Given the description of an element on the screen output the (x, y) to click on. 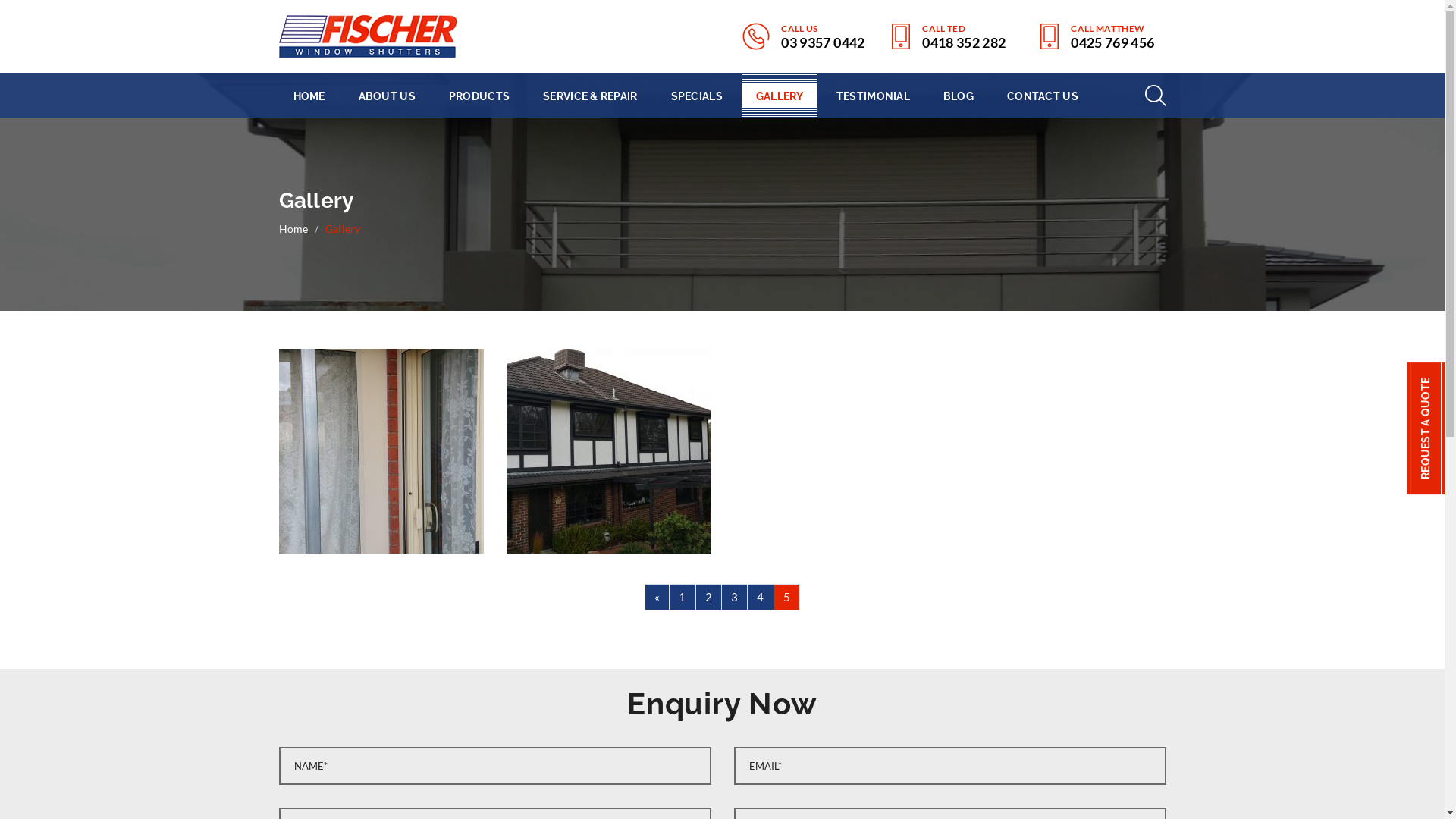
SPECIALS Element type: text (696, 95)
PRODUCTS Element type: text (479, 95)
CALL US
03 9357 0442 Element type: text (803, 36)
SERVICE & REPAIR Element type: text (589, 95)
1 Element type: text (681, 596)
CALL TED
0418 352 282 Element type: text (948, 36)
ABOUT US Element type: text (386, 95)
3 Element type: text (734, 596)
GALLERY Element type: text (779, 95)
BLOG Element type: text (958, 95)
4 Element type: text (759, 596)
CONTACT US Element type: text (1042, 95)
2 Element type: text (708, 596)
5 Element type: text (786, 596)
CALL MATTHEW
0425 769 456 Element type: text (1097, 36)
Fischer Window Shutters Element type: hover (368, 36)
HOME Element type: text (309, 95)
Home Element type: text (293, 227)
TESTIMONIAL Element type: text (873, 95)
